Given the description of an element on the screen output the (x, y) to click on. 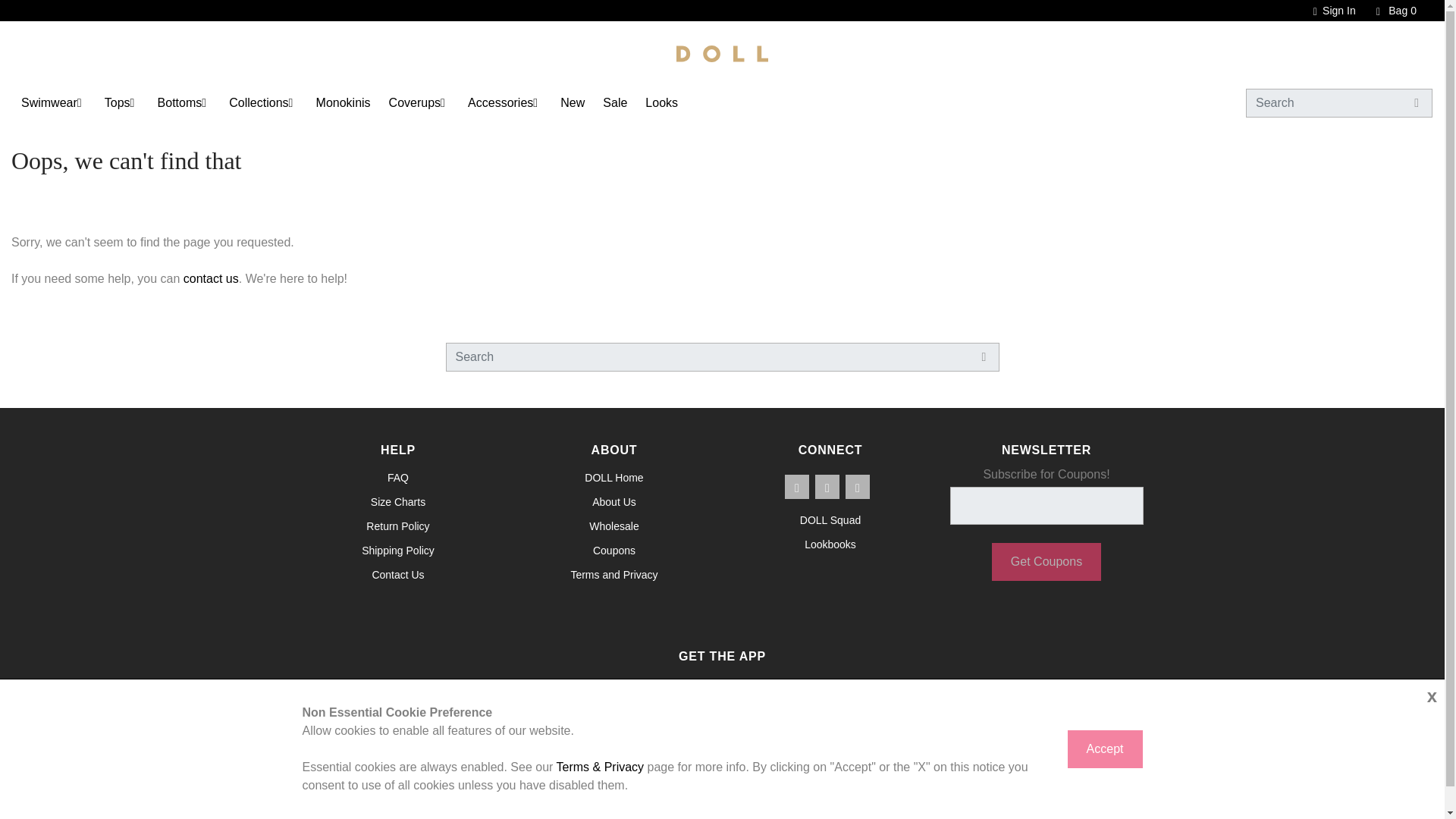
Bag0 (1388, 10)
Tops (117, 102)
Sign In (1326, 10)
Collections (258, 102)
Bottoms (179, 102)
Accept (1104, 749)
Get Coupons (1045, 561)
Swimwear (48, 102)
